Given the description of an element on the screen output the (x, y) to click on. 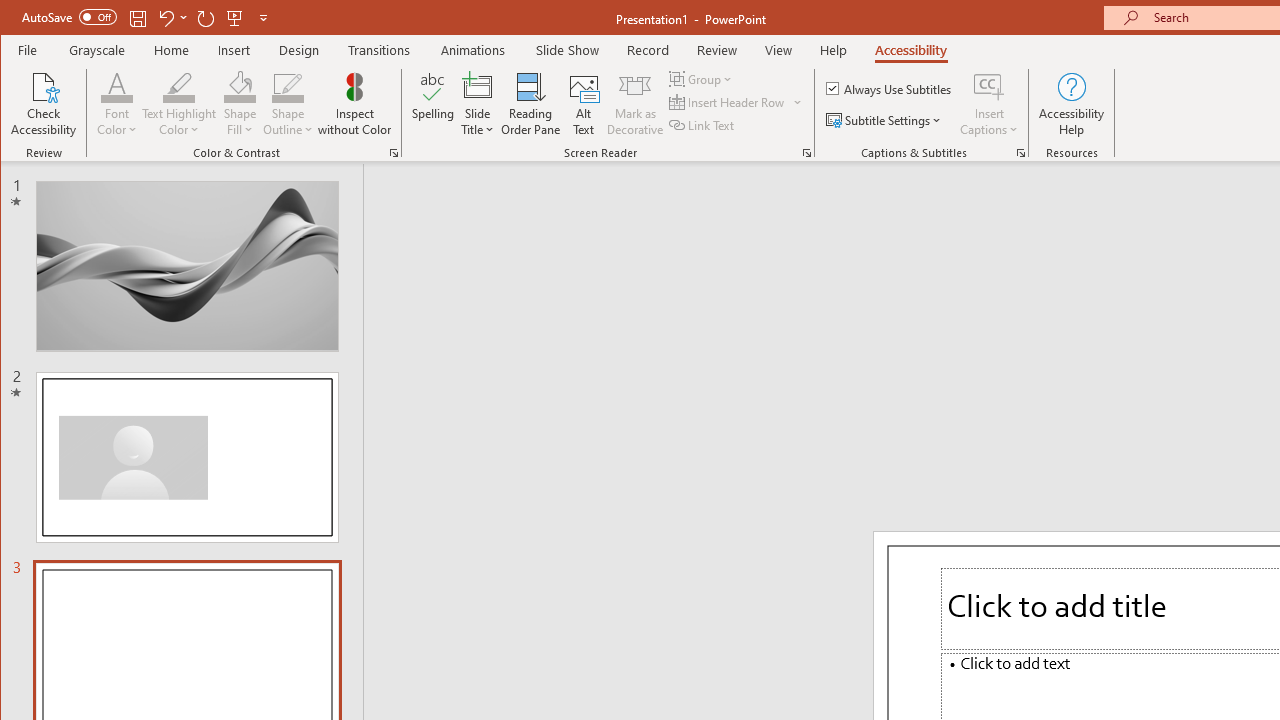
Mark as Decorative (635, 104)
